Given the description of an element on the screen output the (x, y) to click on. 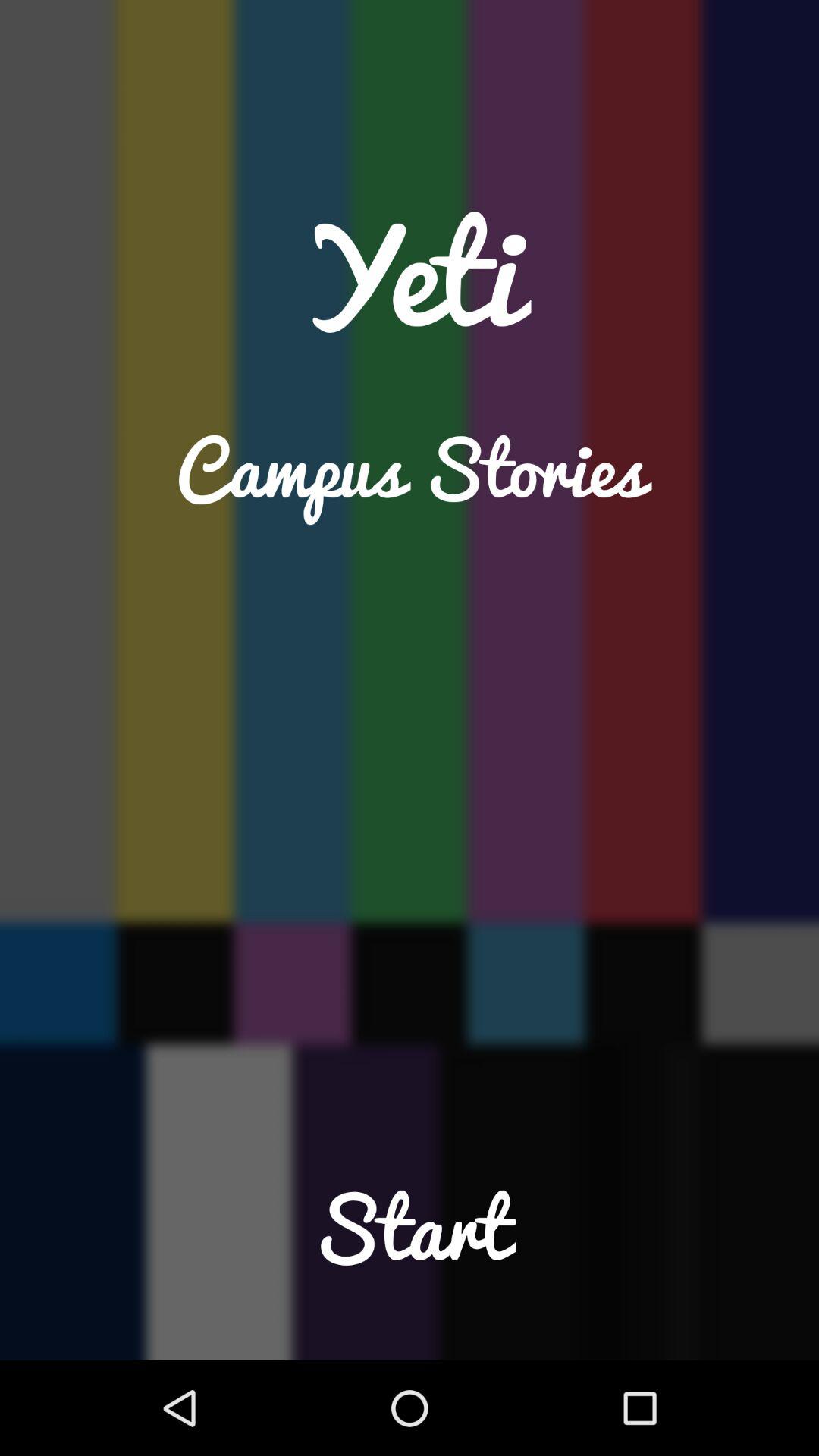
press app at the bottom (409, 1259)
